Given the description of an element on the screen output the (x, y) to click on. 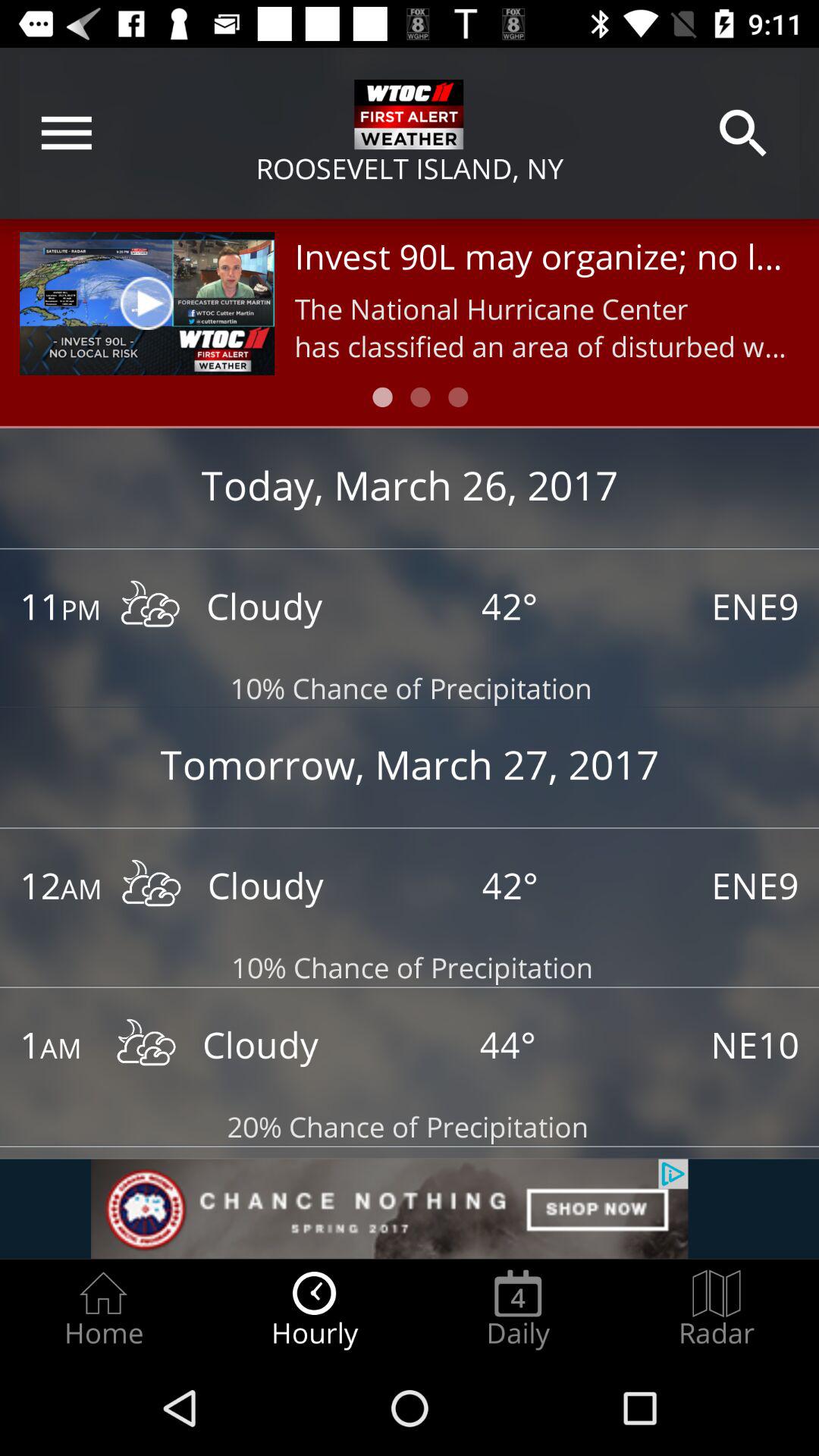
turn off item to the left of the hourly radio button (103, 1309)
